Given the description of an element on the screen output the (x, y) to click on. 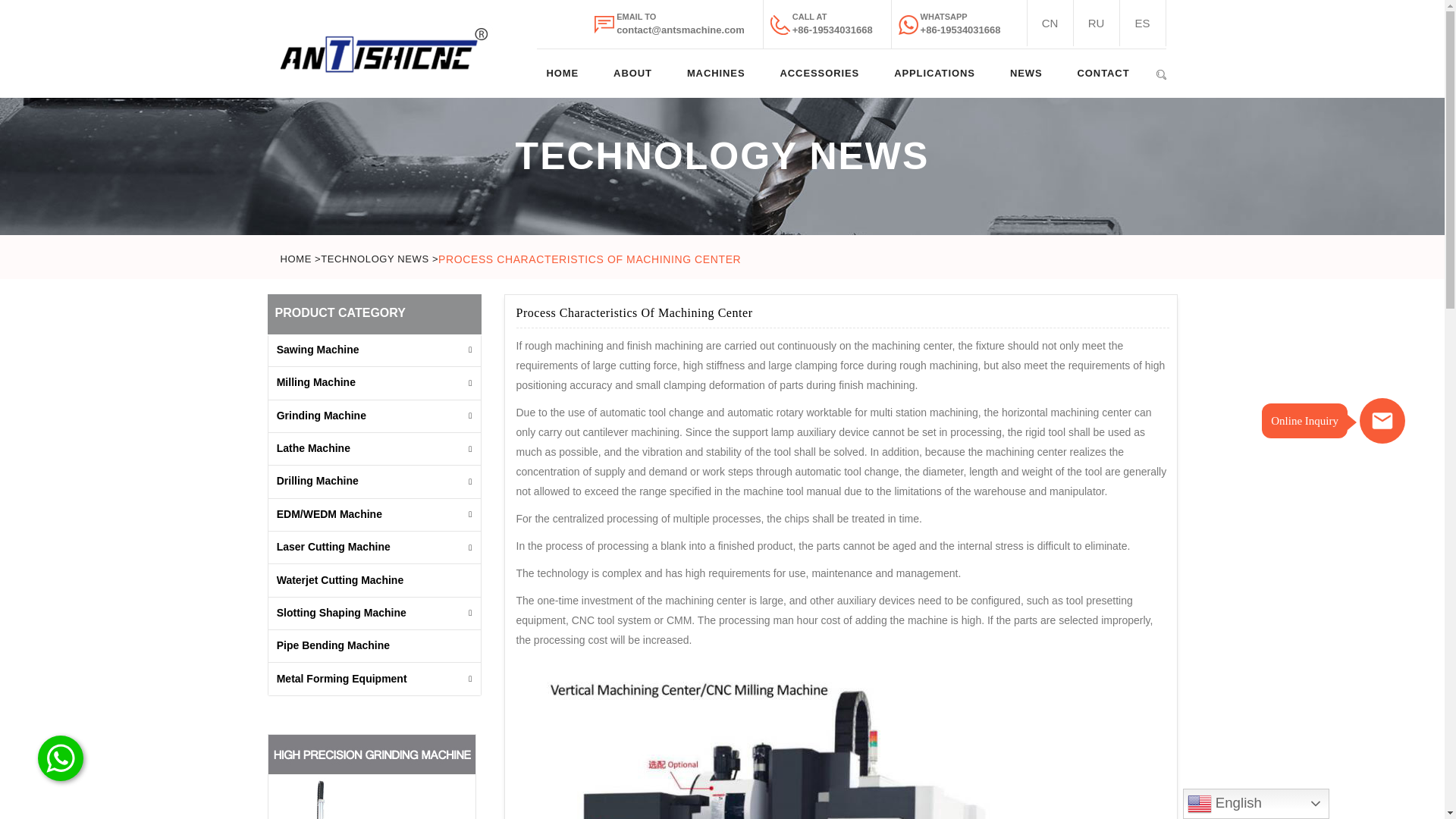
ABOUT (632, 73)
HOME (562, 73)
ES (1141, 22)
www.antishicnc.es (1141, 22)
Online Inquiry (1382, 420)
MACHINES (716, 73)
RU (1096, 22)
CN (1048, 22)
www.antishicnc.com (1096, 22)
www.antsmachine.cn (1048, 22)
Search (1161, 72)
